Given the description of an element on the screen output the (x, y) to click on. 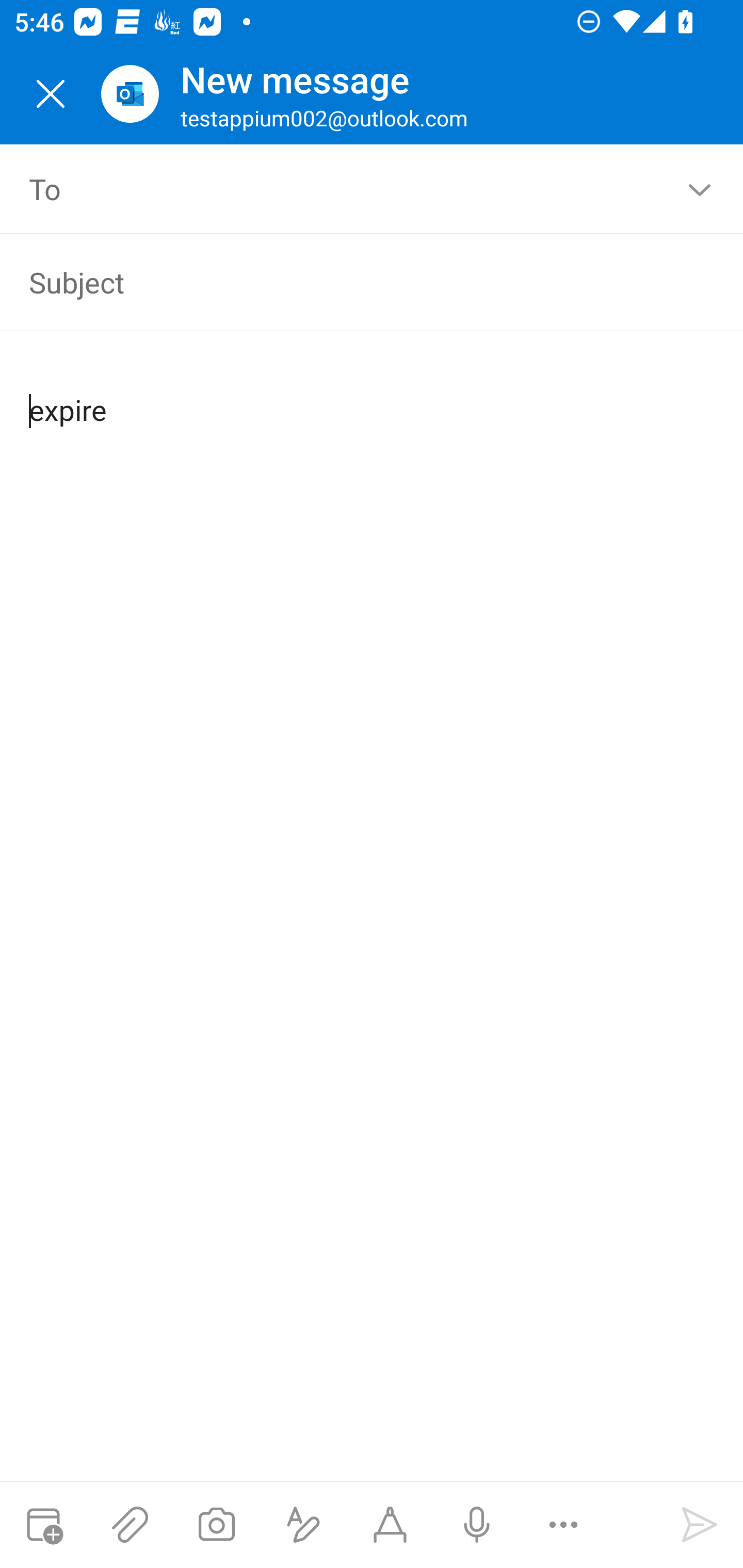
Close (50, 93)
Subject (342, 281)

expire (372, 394)
Attach meeting (43, 1524)
Attach files (129, 1524)
Take a photo (216, 1524)
Show formatting options (303, 1524)
Start Ink compose (389, 1524)
Dictation (476, 1524)
More options (563, 1524)
Send (699, 1524)
